Given the description of an element on the screen output the (x, y) to click on. 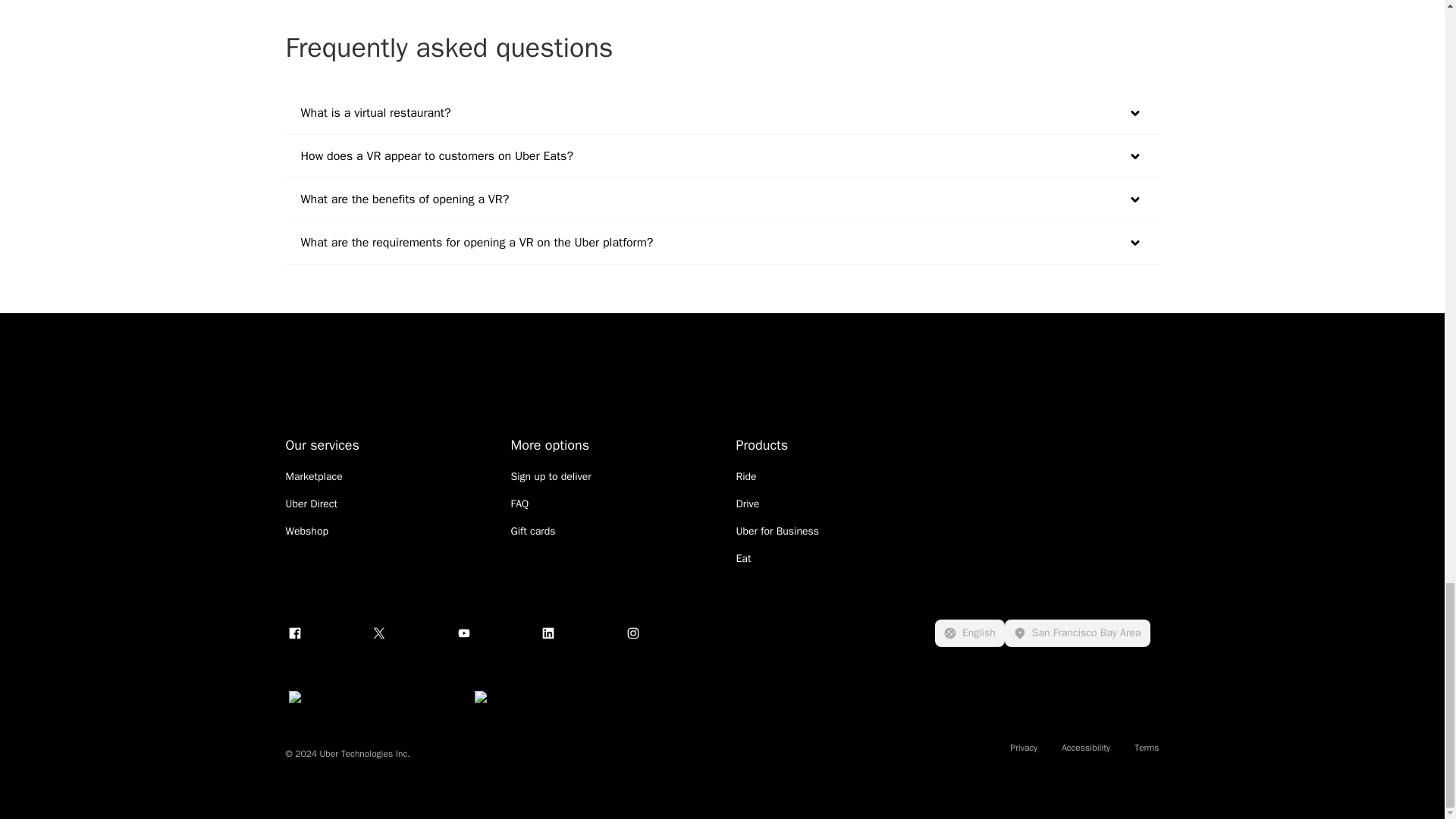
English (969, 632)
Sign up to deliver (551, 476)
Expand (1133, 156)
Down Small (1134, 155)
Down Small (1134, 113)
Down Small (1134, 199)
Expand (1133, 198)
Gift cards (533, 530)
Webshop (306, 530)
Uber for Business (776, 530)
Expand (1133, 242)
Uber Direct (311, 503)
Privacy (1023, 747)
Drive (746, 503)
Accessibility (1085, 747)
